Given the description of an element on the screen output the (x, y) to click on. 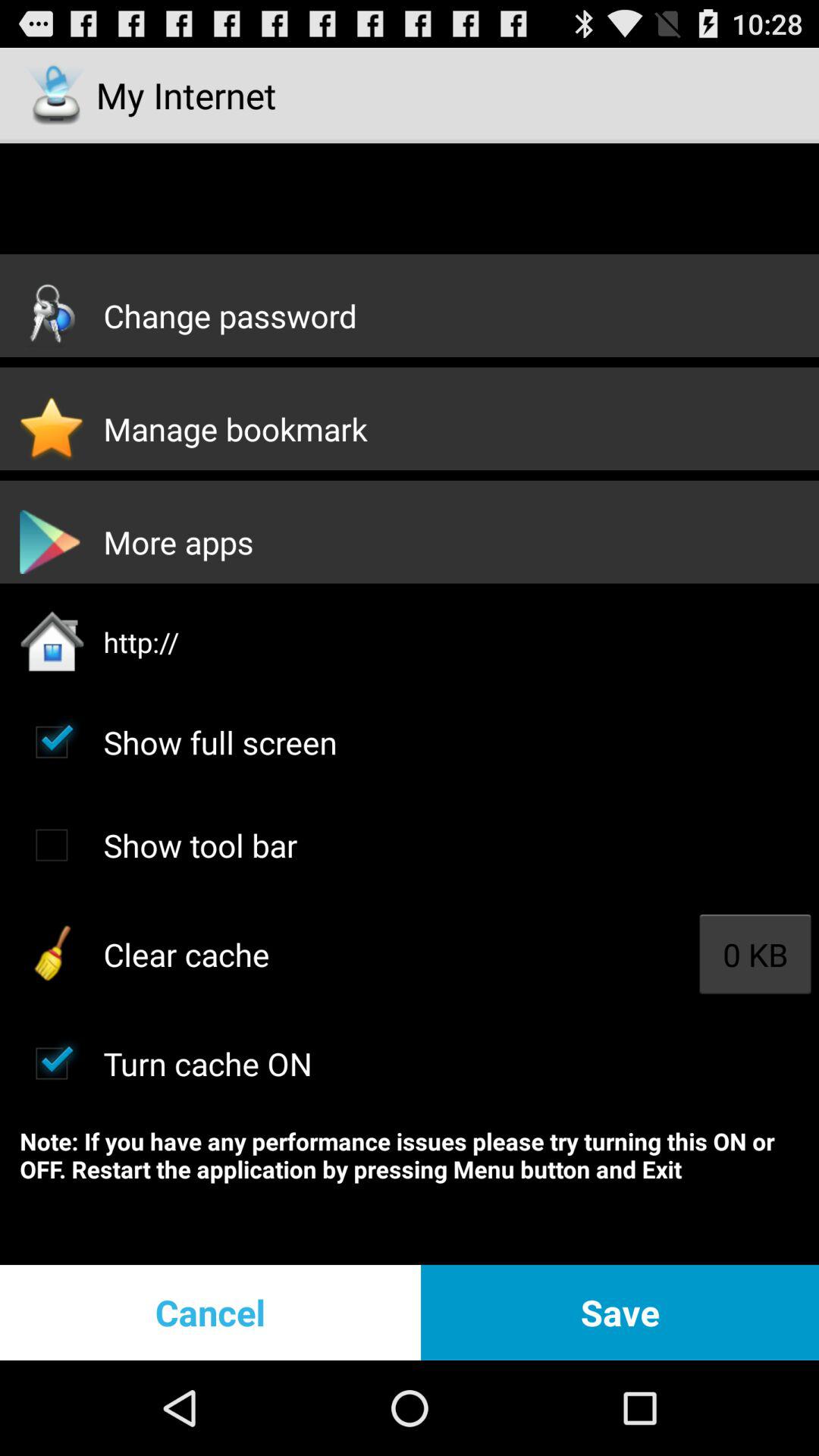
select full screen (51, 742)
